Given the description of an element on the screen output the (x, y) to click on. 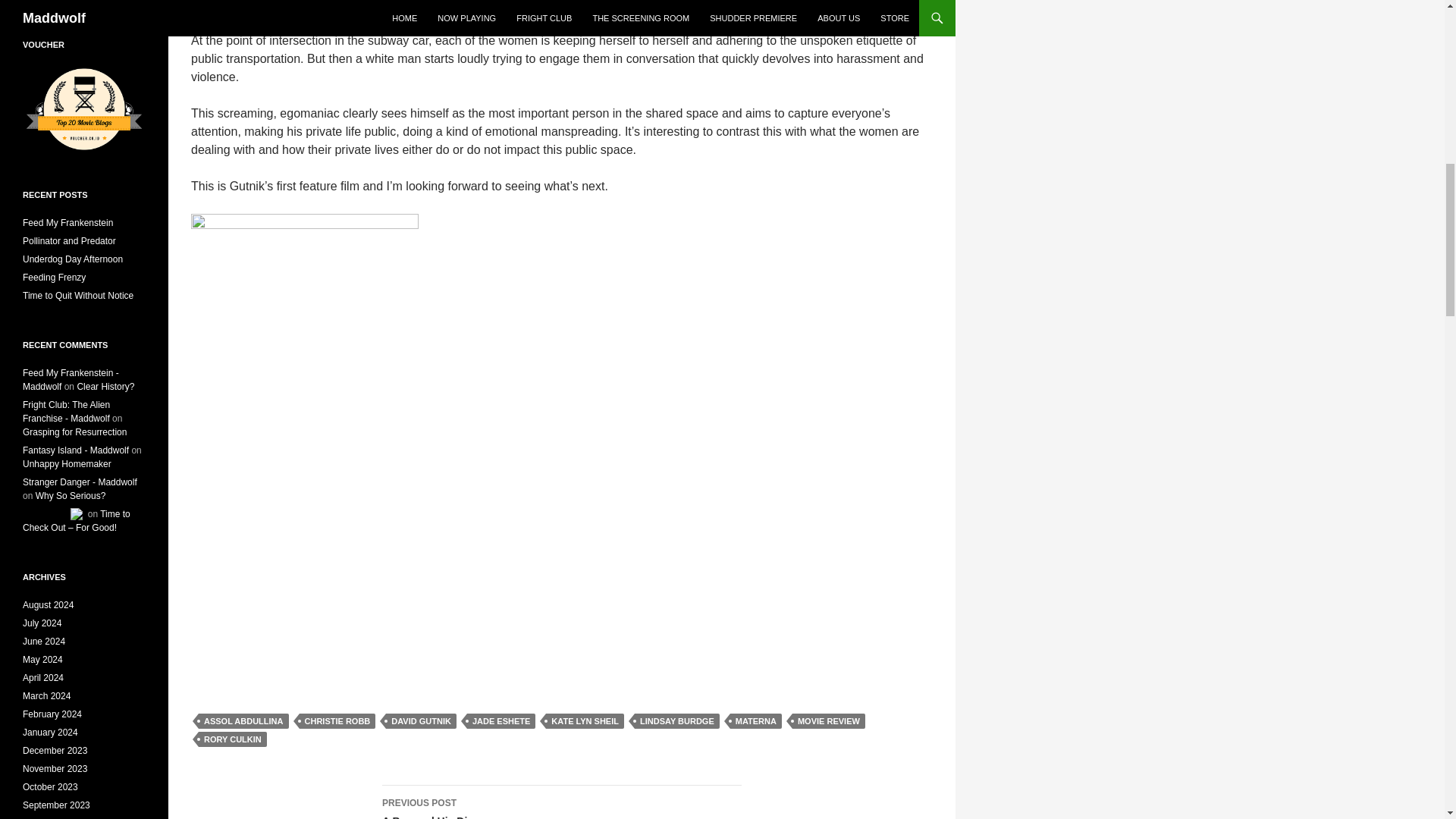
Time to Quit Without Notice (78, 295)
Feed My Frankenstein (561, 802)
MOVIE REVIEW (68, 222)
Feeding Frenzy (828, 720)
ASSOL ABDULLINA (54, 276)
DAVID GUTNIK (243, 720)
JADE ESHETE (421, 720)
Pollinator and Predator (501, 720)
MATERNA (69, 240)
